Given the description of an element on the screen output the (x, y) to click on. 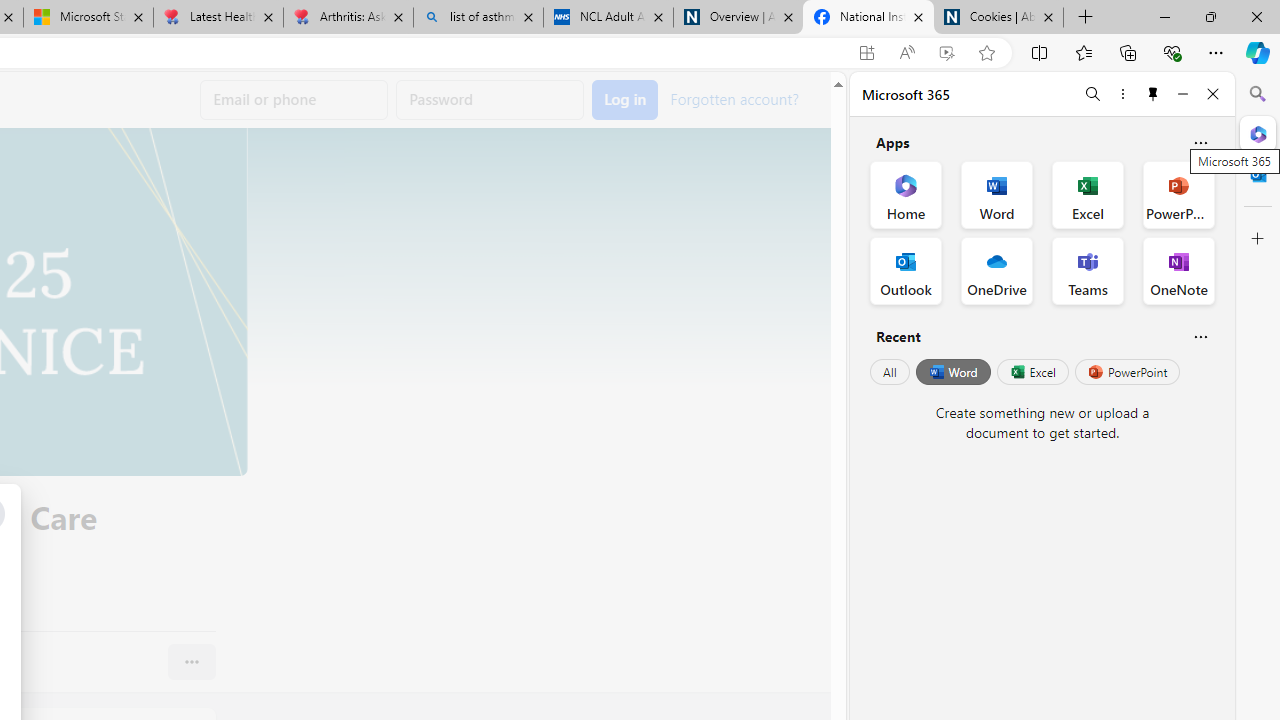
Arthritis: Ask Health Professionals (348, 17)
Outlook Office App (906, 270)
PowerPoint Office App (1178, 194)
Is this helpful? (1200, 336)
Password (489, 99)
NCL Adult Asthma Inhaler Choice Guideline (608, 17)
